Given the description of an element on the screen output the (x, y) to click on. 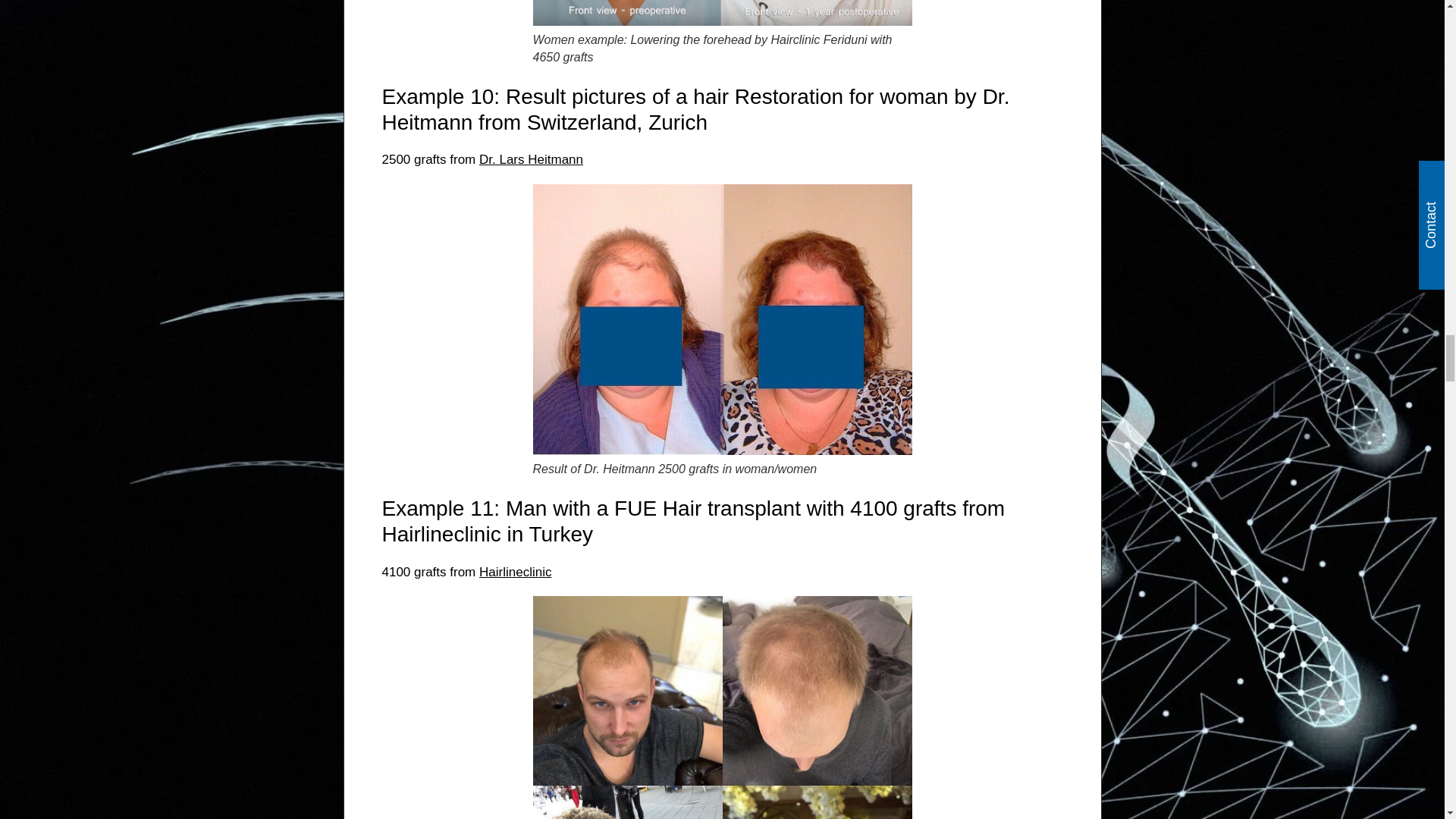
Hairlineclinic (515, 572)
